Given the description of an element on the screen output the (x, y) to click on. 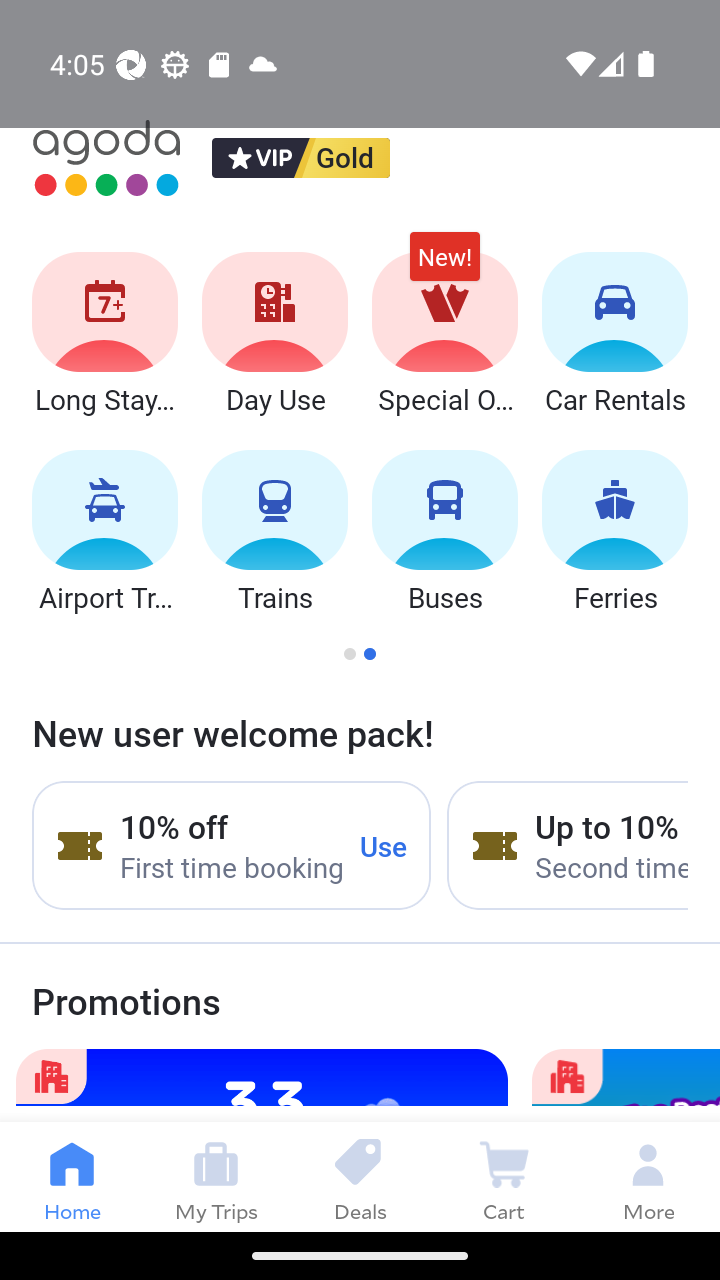
New! (444, 265)
Use (384, 845)
Home (72, 1176)
My Trips (216, 1176)
Deals (360, 1176)
Cart (504, 1176)
More (648, 1176)
